Given the description of an element on the screen output the (x, y) to click on. 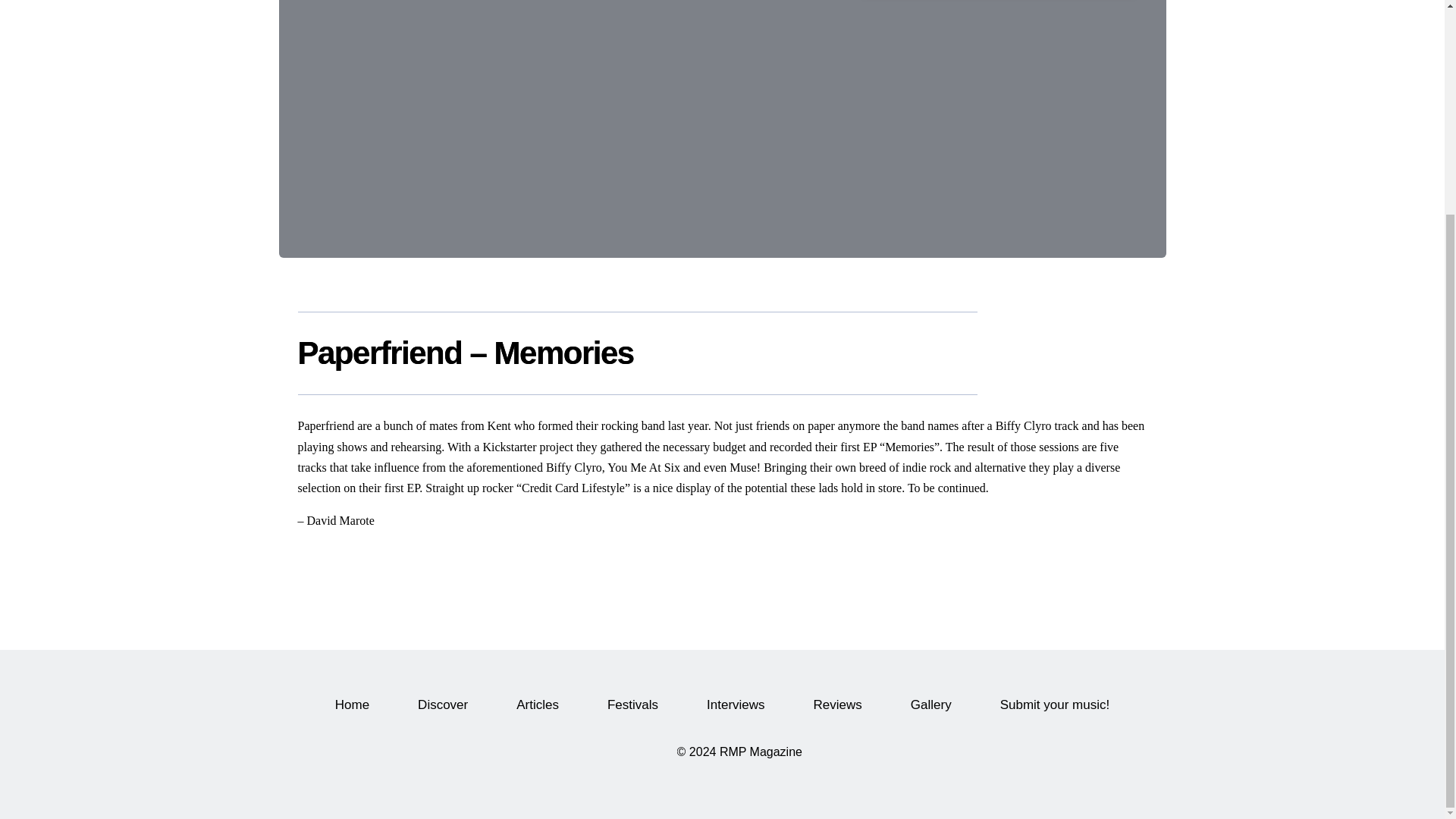
Gallery (931, 704)
Interviews (735, 704)
Articles (537, 704)
Discover (442, 704)
Festivals (633, 704)
Reviews (837, 704)
Home (351, 704)
